Given the description of an element on the screen output the (x, y) to click on. 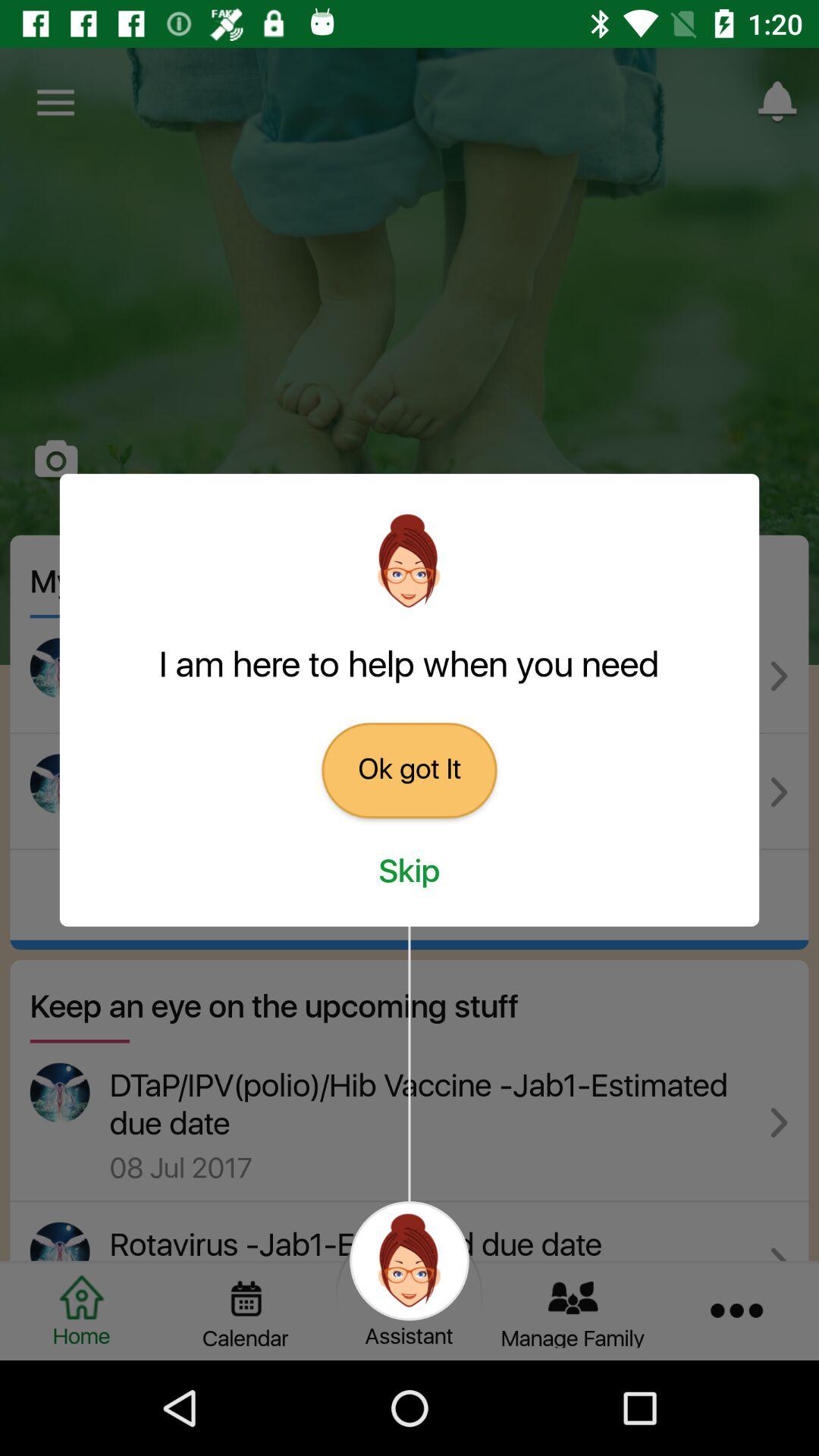
launch the skip (409, 872)
